Given the description of an element on the screen output the (x, y) to click on. 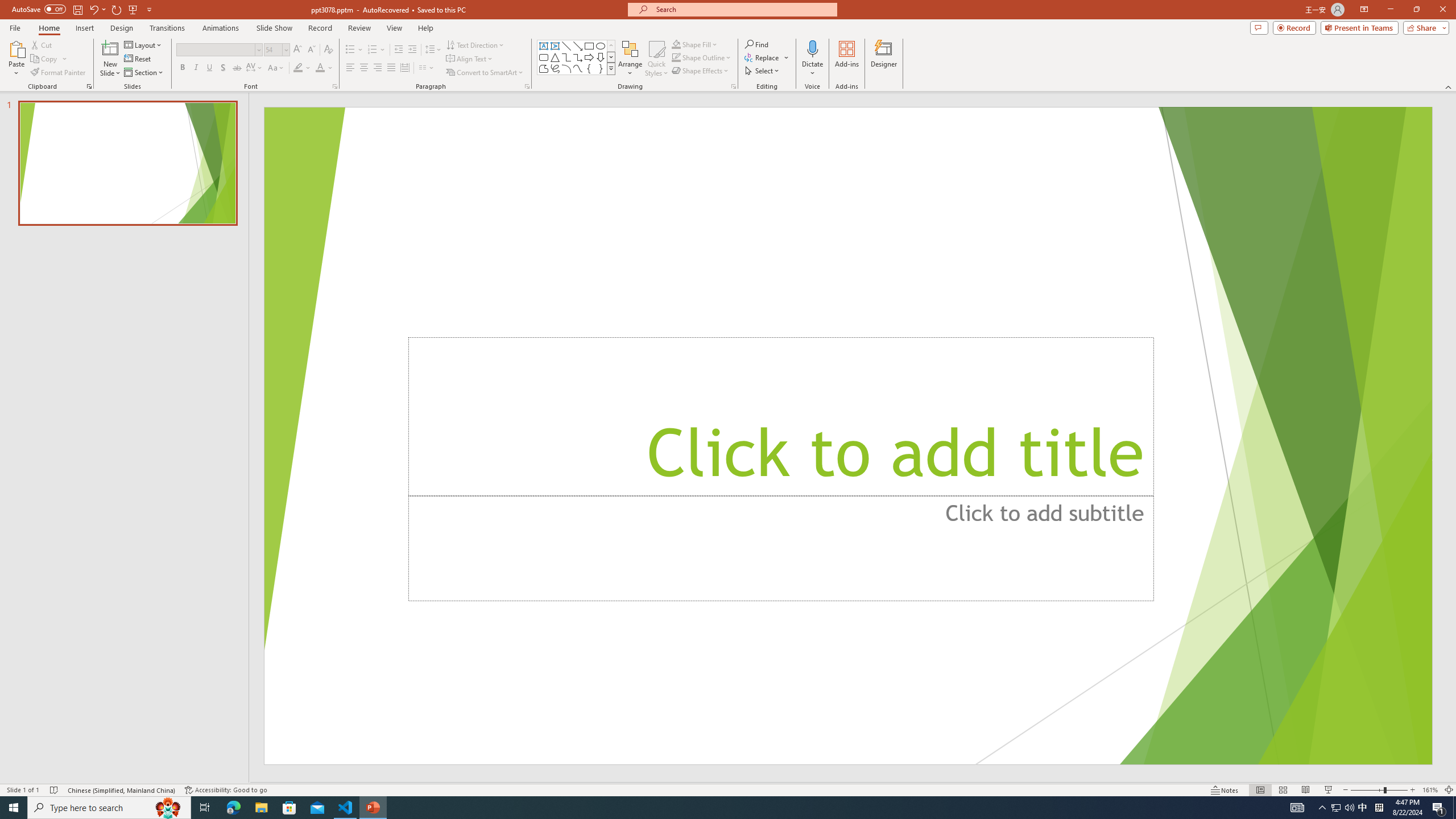
Shape Outline Green, Accent 1 (675, 56)
Shape Effects (700, 69)
